Given the description of an element on the screen output the (x, y) to click on. 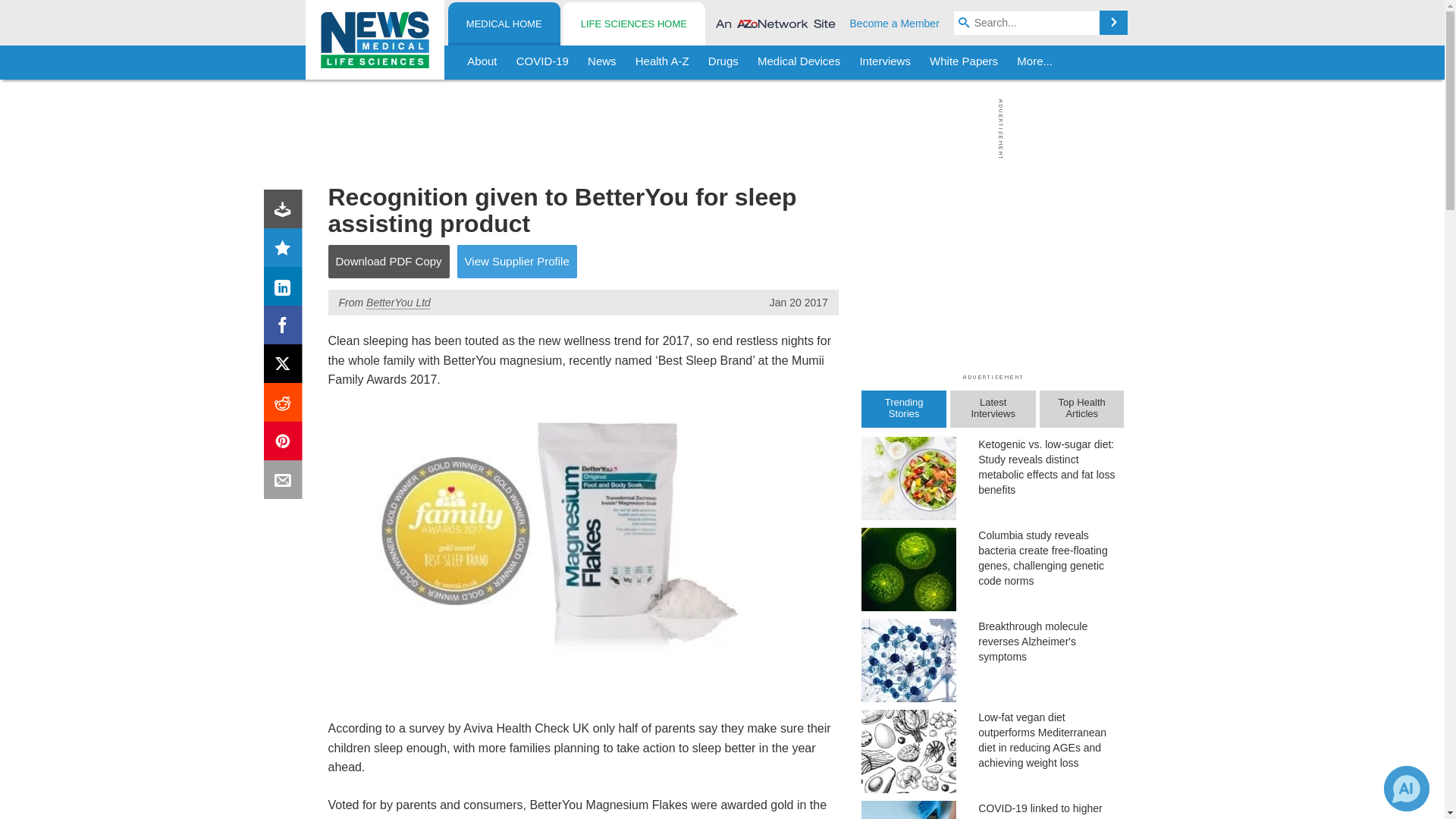
X (285, 366)
COVID-19 (542, 62)
LinkedIn (285, 289)
Download PDF copy (285, 212)
Facebook (285, 328)
Search (1112, 22)
More... (1035, 62)
Medical Devices (798, 62)
Pinterest (285, 443)
News (601, 62)
